Given the description of an element on the screen output the (x, y) to click on. 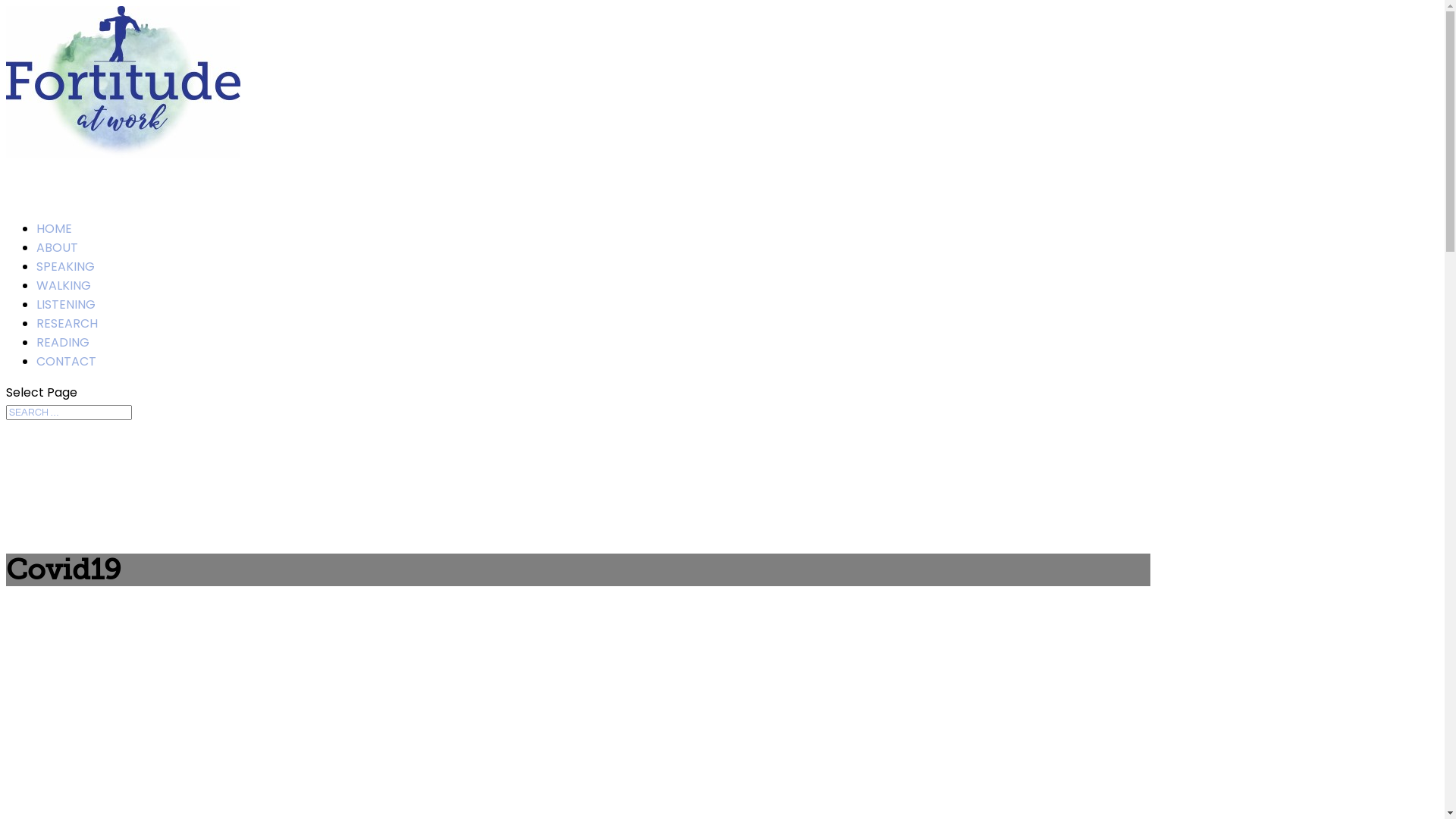
READING Element type: text (62, 364)
Search for: Element type: hover (68, 412)
SPEAKING Element type: text (65, 288)
HOME Element type: text (54, 250)
WALKING Element type: text (63, 307)
LISTENING Element type: text (65, 326)
RESEARCH Element type: text (66, 345)
CONTACT Element type: text (66, 383)
ABOUT Element type: text (57, 269)
